Given the description of an element on the screen output the (x, y) to click on. 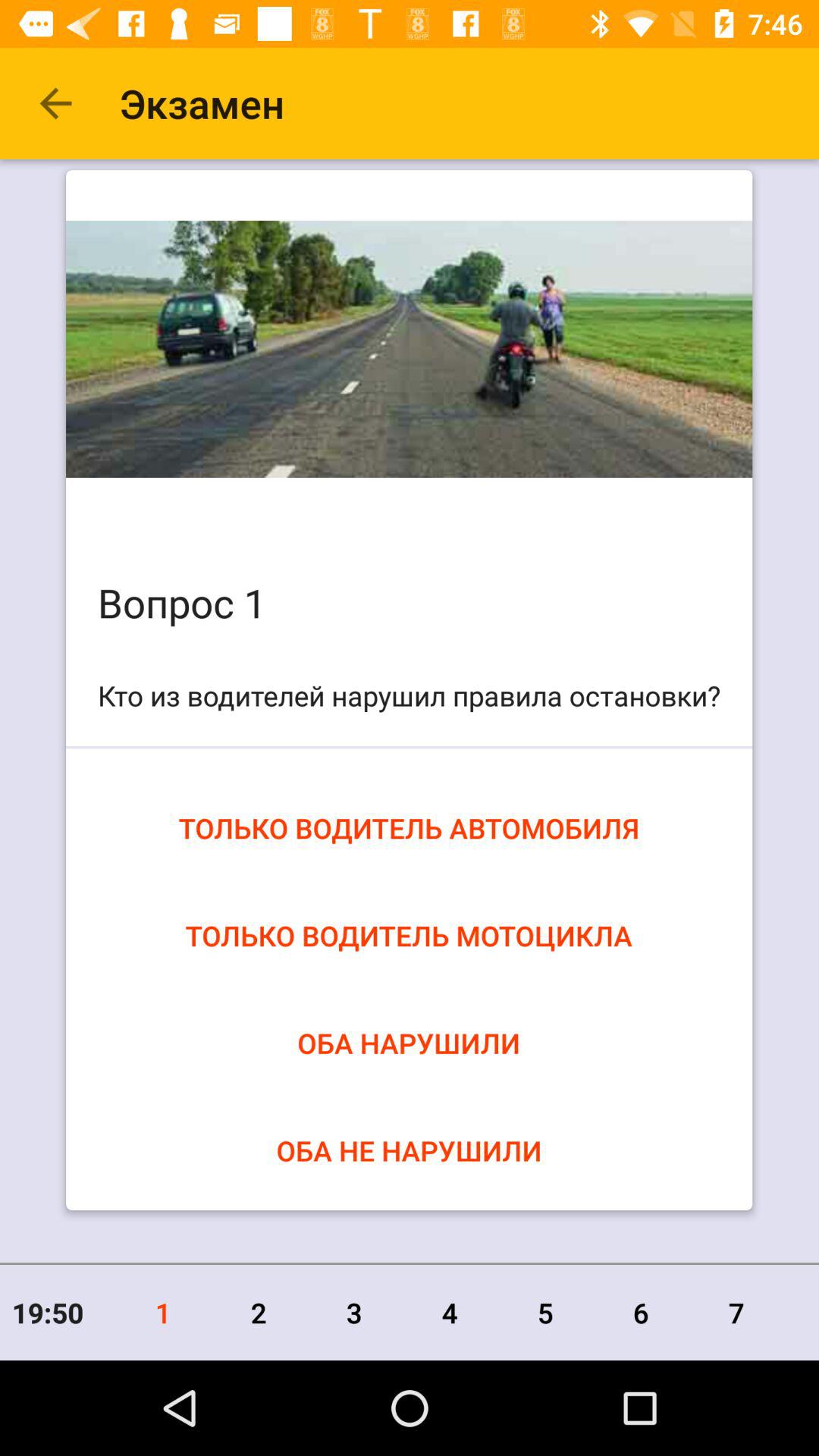
select item to the left of 8 item (736, 1312)
